Given the description of an element on the screen output the (x, y) to click on. 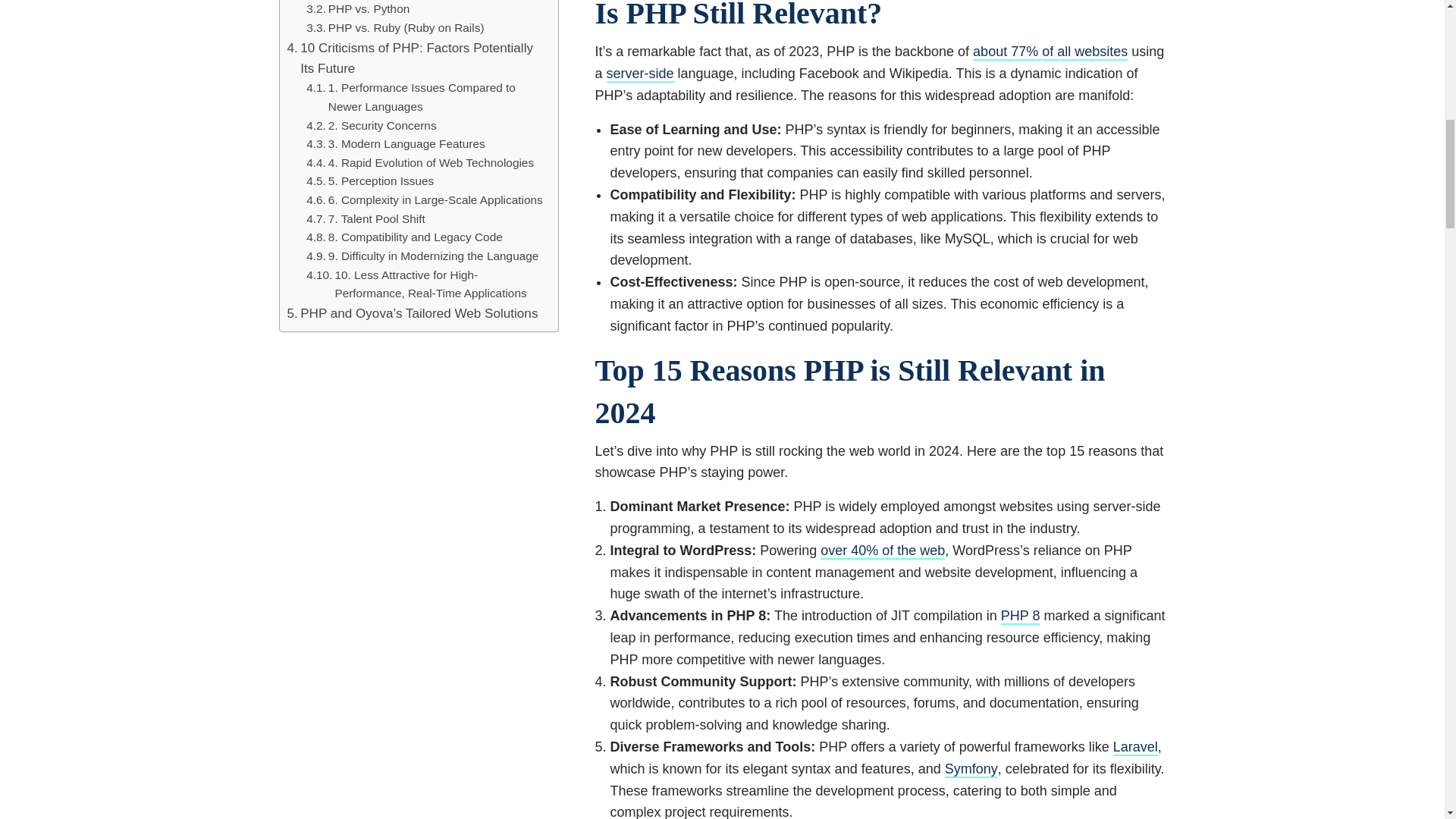
PHP vs. Python (357, 9)
7. Talent Pool Shift (365, 219)
2. Security Concerns (370, 126)
3. Modern Language Features (394, 144)
6. Complexity in Large-Scale Applications (424, 199)
10 Criticisms of PHP: Factors Potentially Its Future (414, 58)
5. Perception Issues (369, 180)
4. Rapid Evolution of Web Technologies (419, 162)
1. Performance Issues Compared to Newer Languages (424, 97)
